Given the description of an element on the screen output the (x, y) to click on. 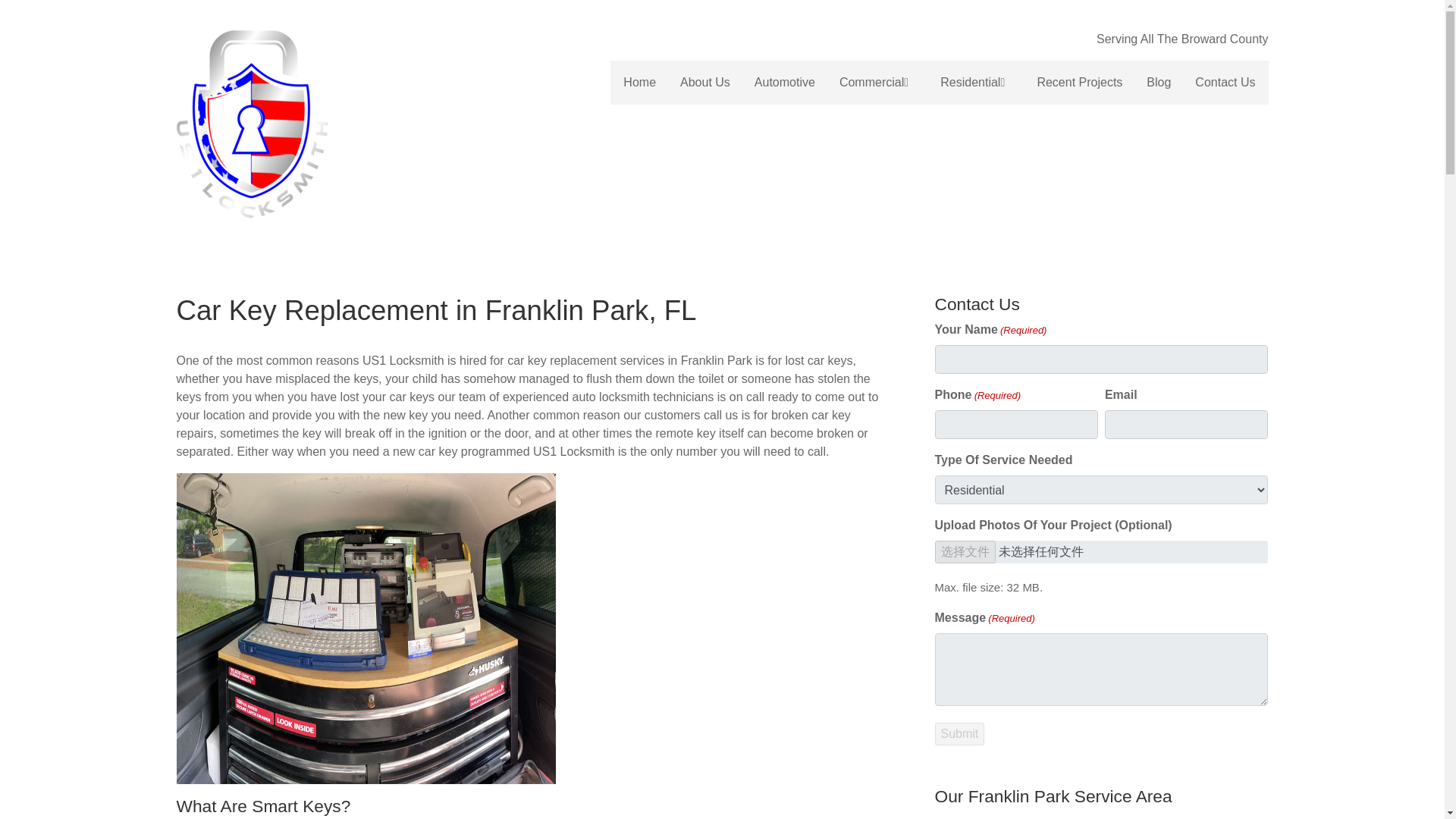
Contact Us (1224, 82)
About Us (705, 82)
Home (639, 82)
Residential (976, 82)
Submit (959, 733)
Recent Projects (1079, 82)
US1 Locksmith (304, 124)
Blog (1158, 82)
Commercial (877, 82)
Submit (959, 733)
Automotive (784, 82)
